Given the description of an element on the screen output the (x, y) to click on. 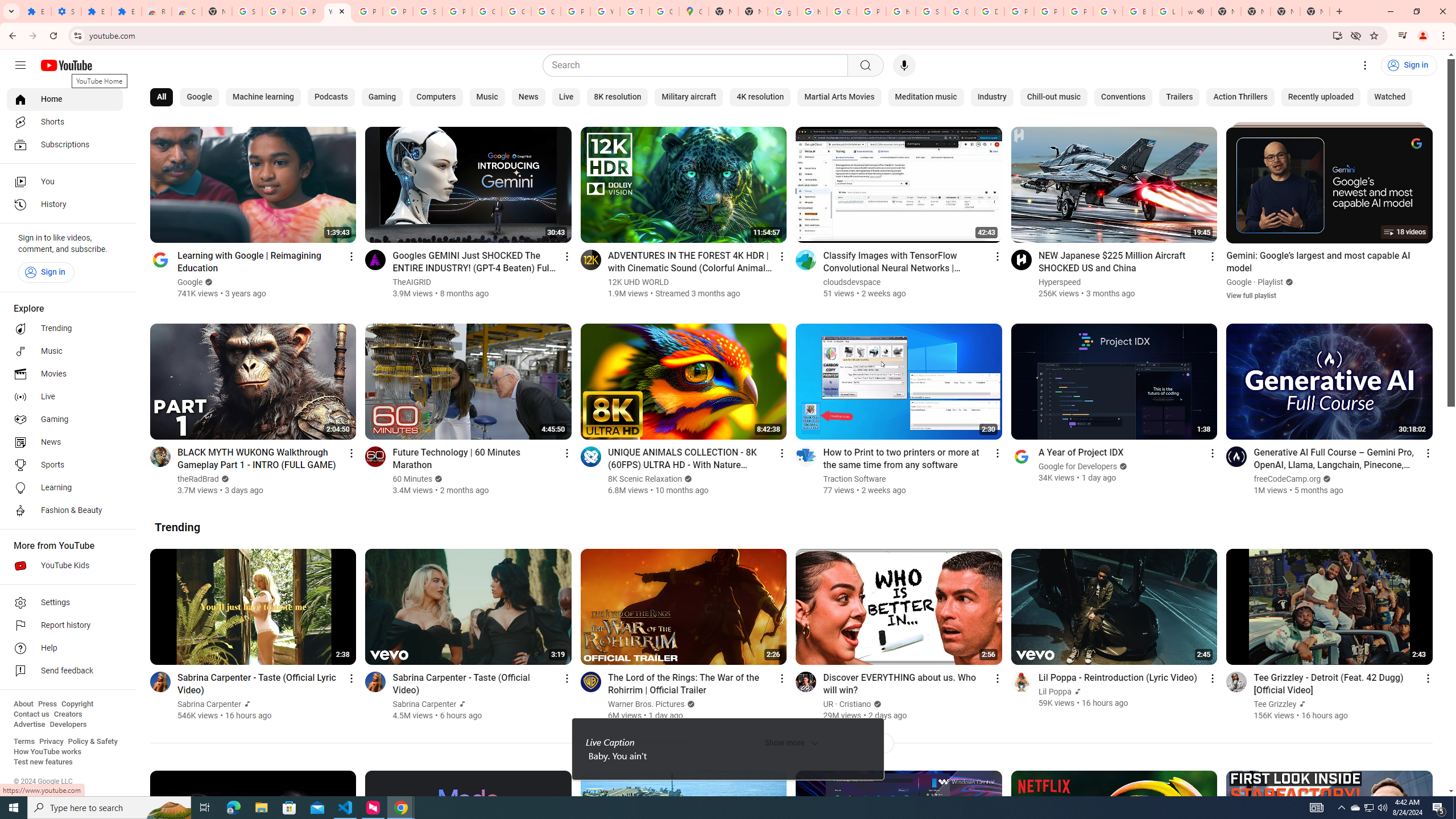
YouTube Home (66, 65)
Conventions (1123, 97)
cloudsdevspace (851, 282)
Search (865, 65)
Live (565, 97)
Sign in - Google Accounts (247, 11)
Sports (64, 464)
History (64, 204)
Machine learning (263, 97)
News (64, 441)
4K resolution (759, 97)
Report history (64, 625)
